Given the description of an element on the screen output the (x, y) to click on. 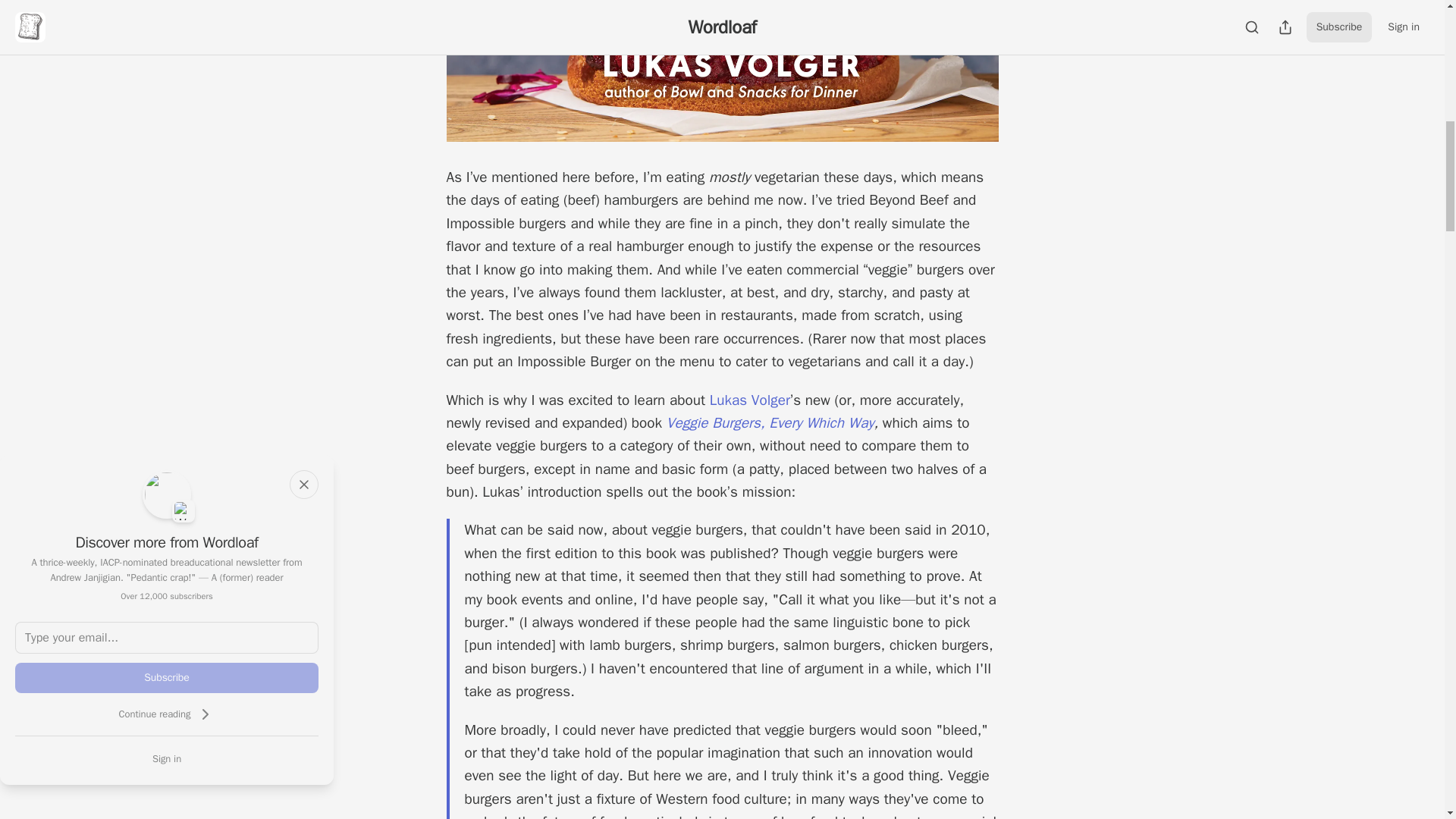
Subscribe (166, 677)
Sign in (166, 758)
Veggie Burgers, Every Which Way (770, 423)
Lukas Volger (750, 400)
